Given the description of an element on the screen output the (x, y) to click on. 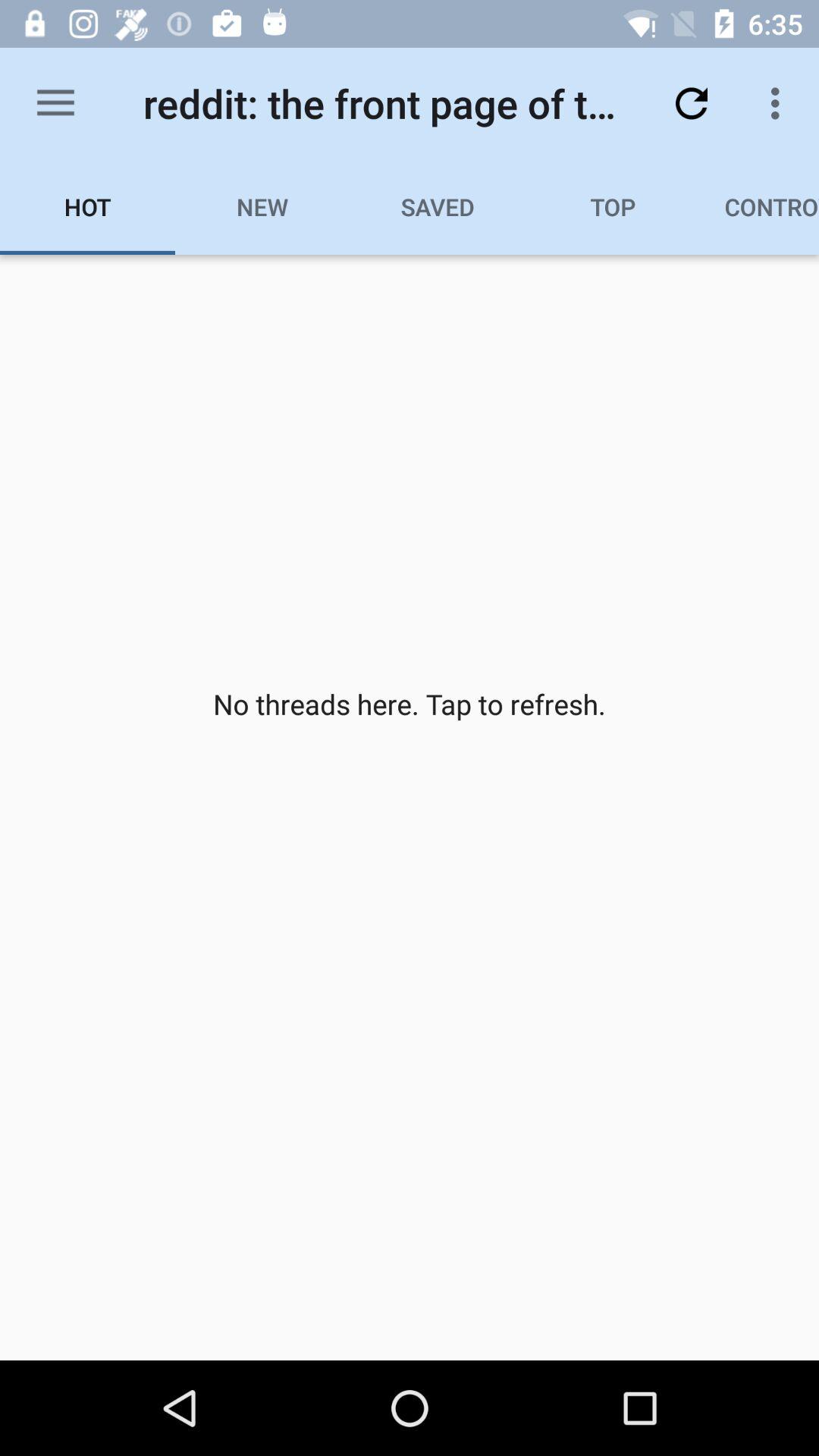
turn off the icon to the left of reddit the front item (55, 103)
